Given the description of an element on the screen output the (x, y) to click on. 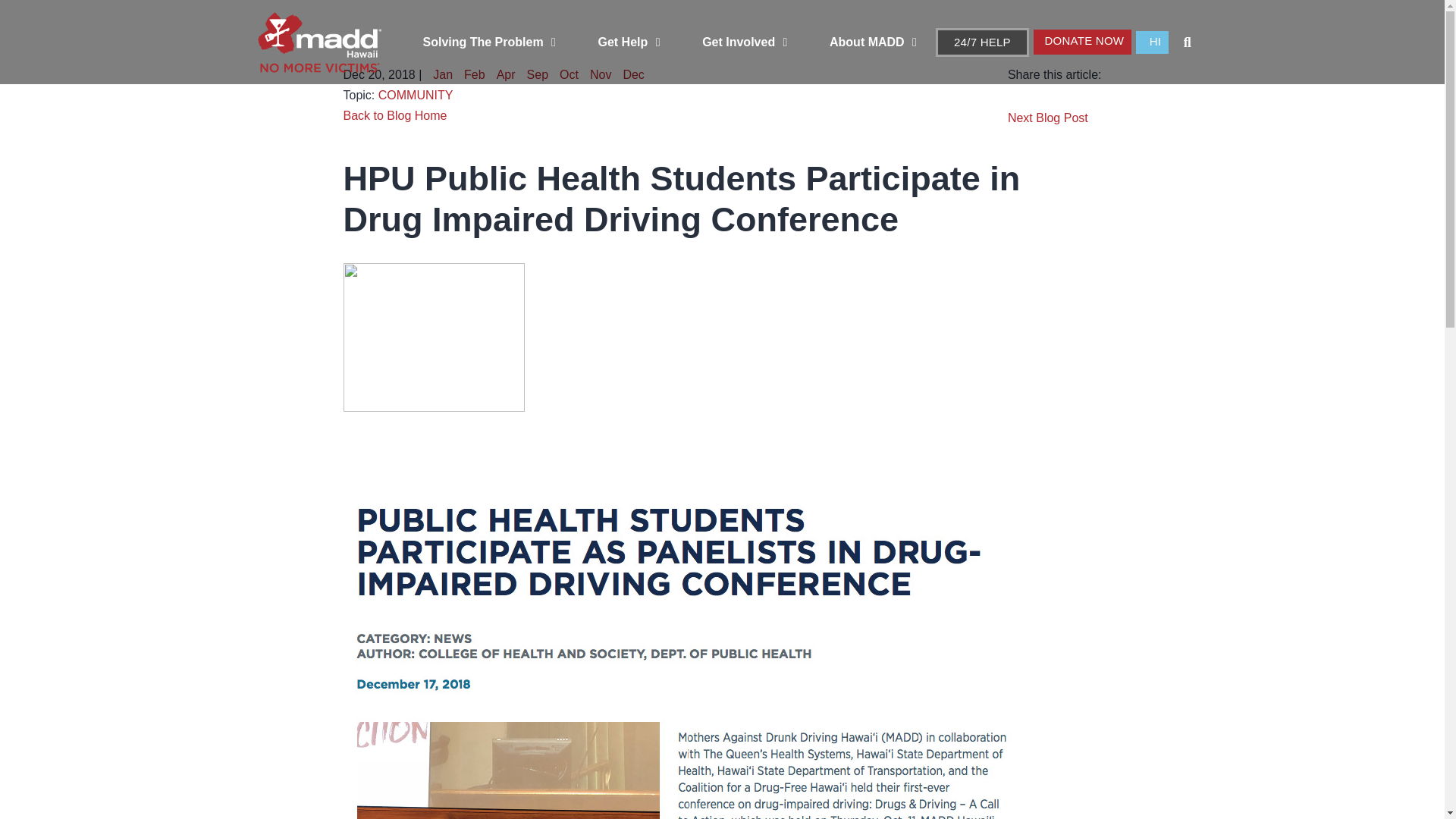
Solving The Problem (488, 41)
Get Help (628, 41)
Get Involved (744, 41)
